Given the description of an element on the screen output the (x, y) to click on. 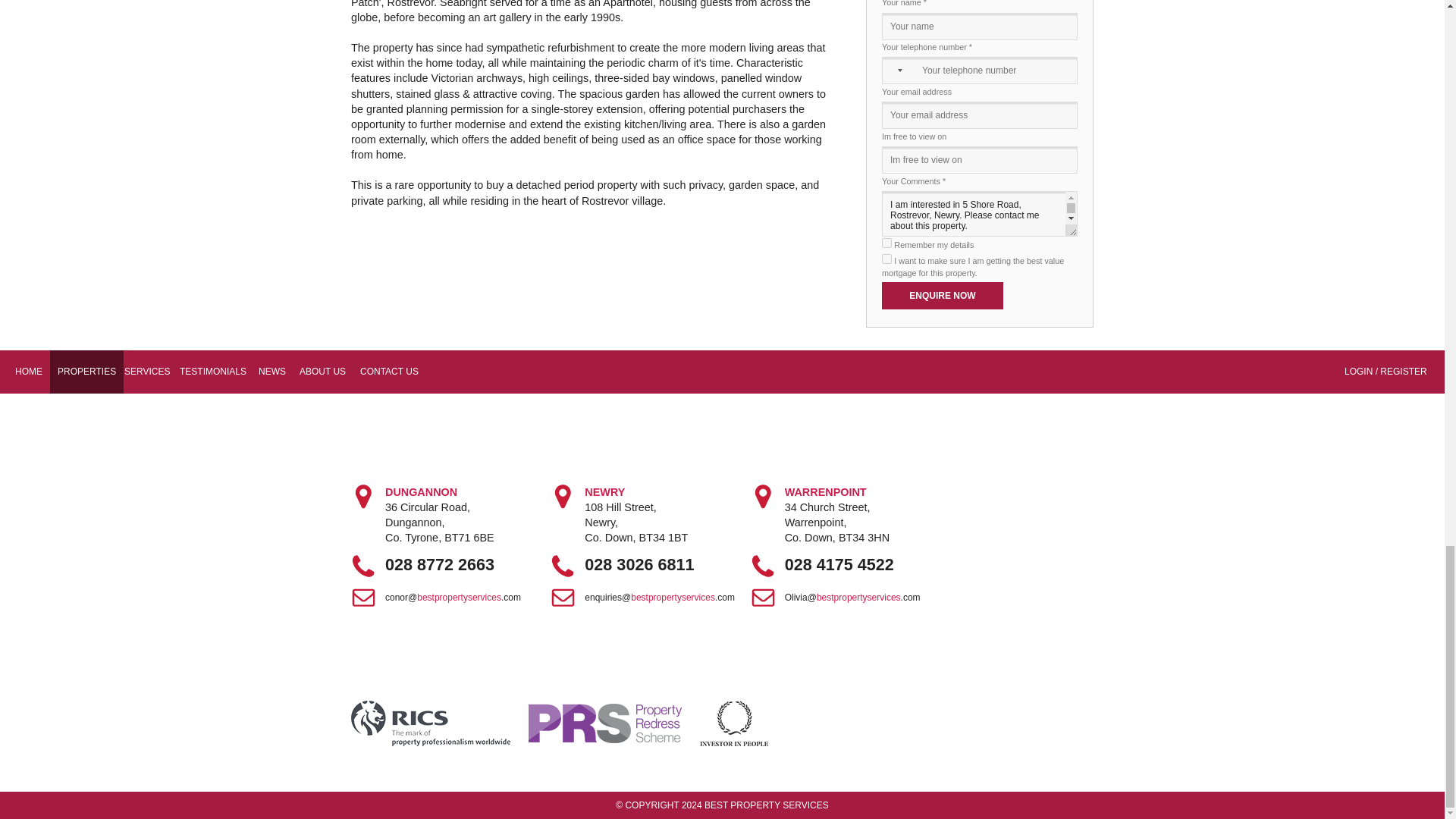
true (886, 258)
true (886, 243)
